Given the description of an element on the screen output the (x, y) to click on. 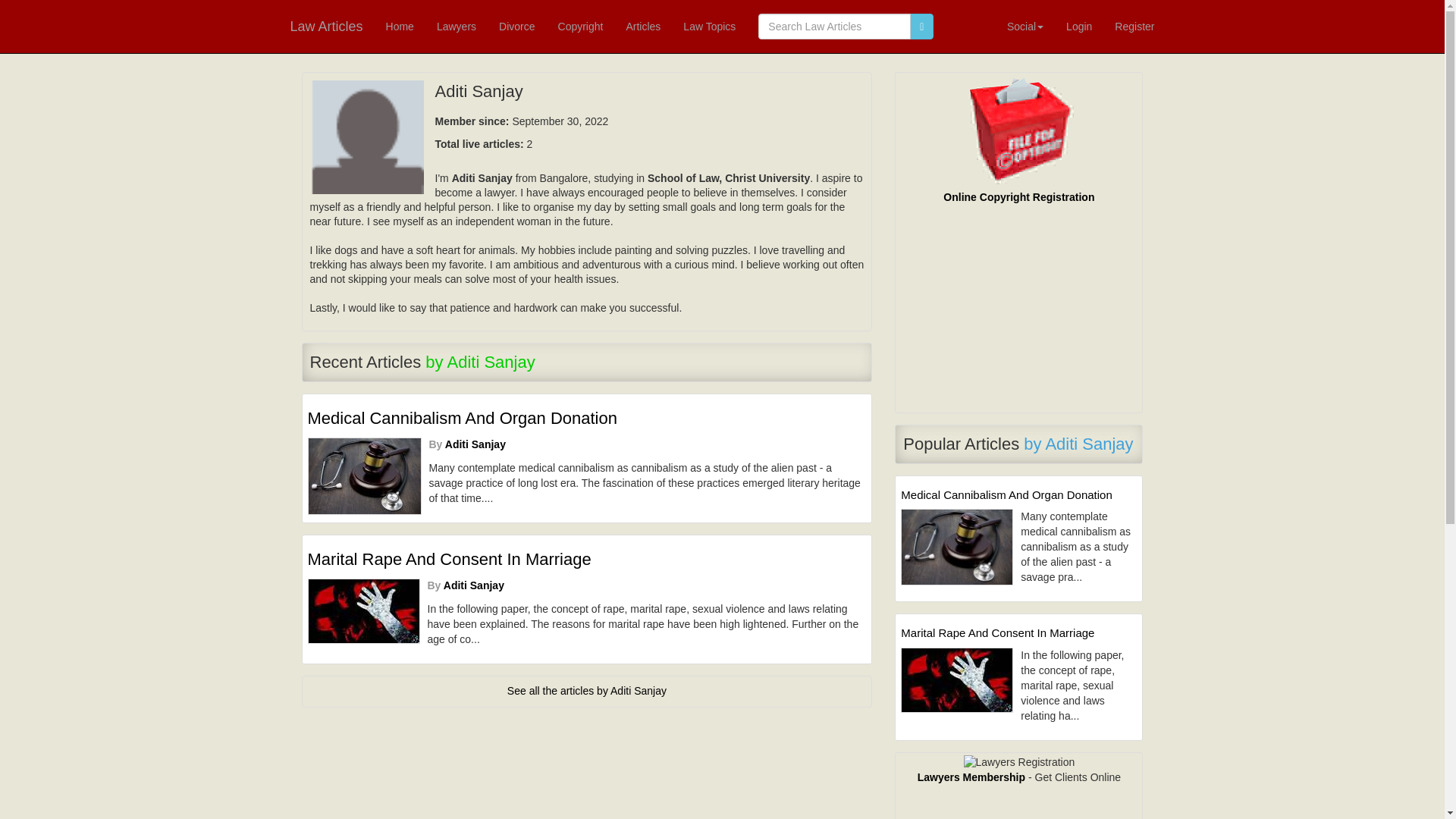
Online Copyright Registration (1018, 196)
Home (399, 26)
Law Topics (708, 26)
Aditi Sanjay (473, 585)
Marital Rape And Consent In Marriage (586, 559)
Aditi Sanjay (475, 444)
Register (1134, 26)
Medical Cannibalism And Organ Donation (586, 418)
Articles (642, 26)
Lawyers (456, 26)
Login (1078, 26)
Lawyers Membership (971, 776)
Law Articles (326, 26)
Copyright (580, 26)
See all the articles by Aditi Sanjay (586, 690)
